Given the description of an element on the screen output the (x, y) to click on. 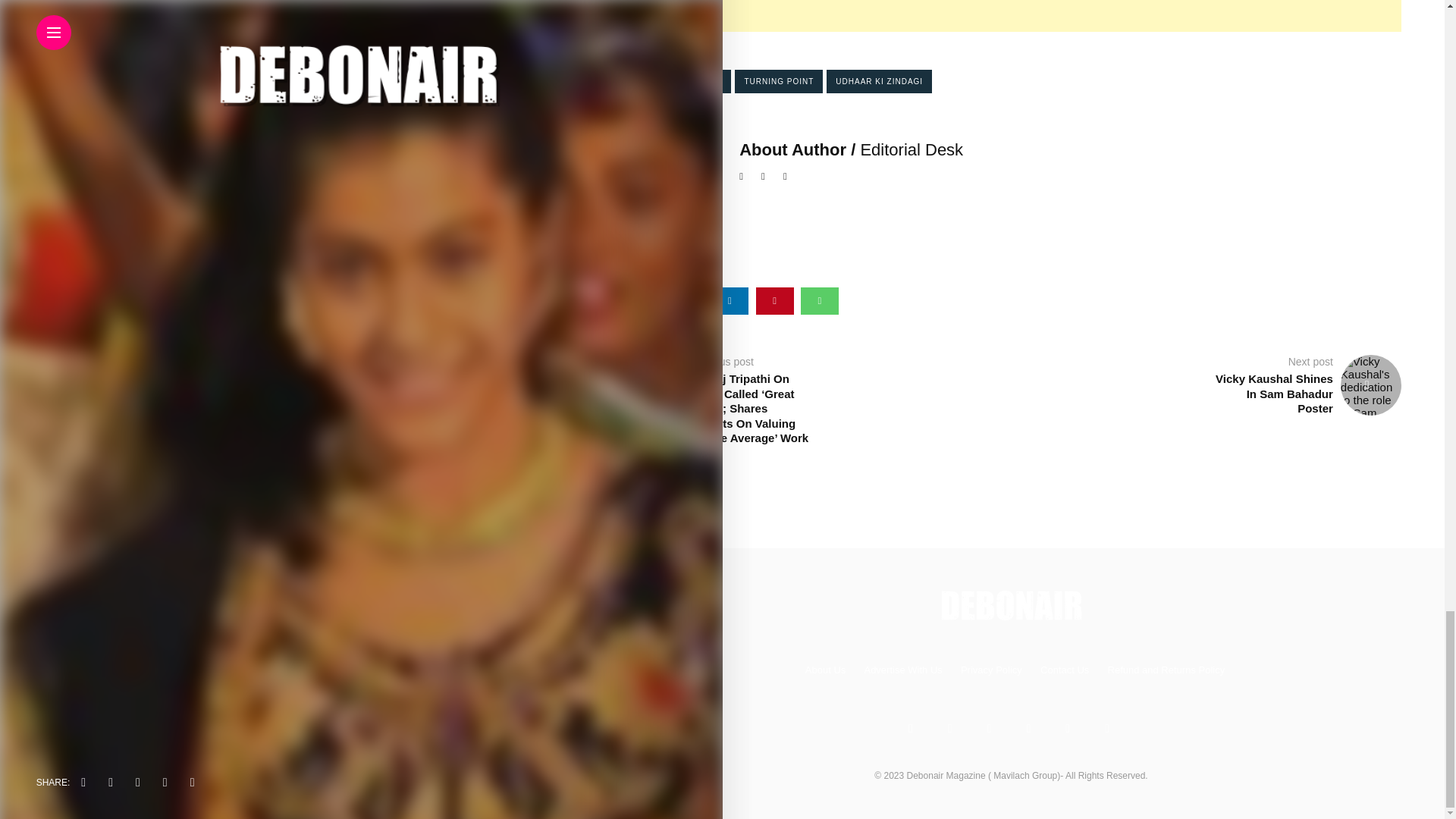
KAJOL (708, 81)
29 YEARS (651, 81)
Advertisement (946, 15)
